Given the description of an element on the screen output the (x, y) to click on. 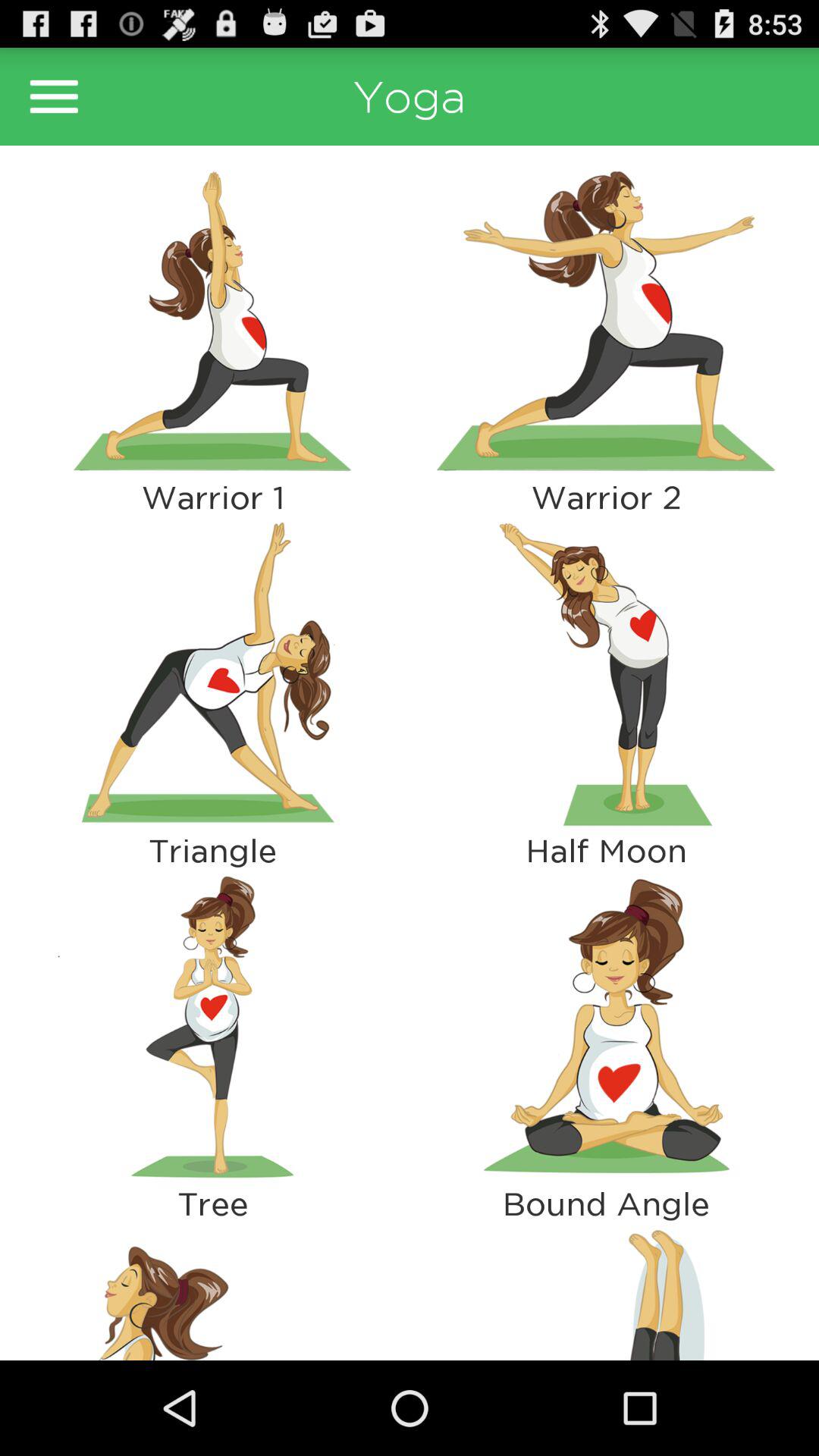
flip to the warrior 2 (606, 497)
